Given the description of an element on the screen output the (x, y) to click on. 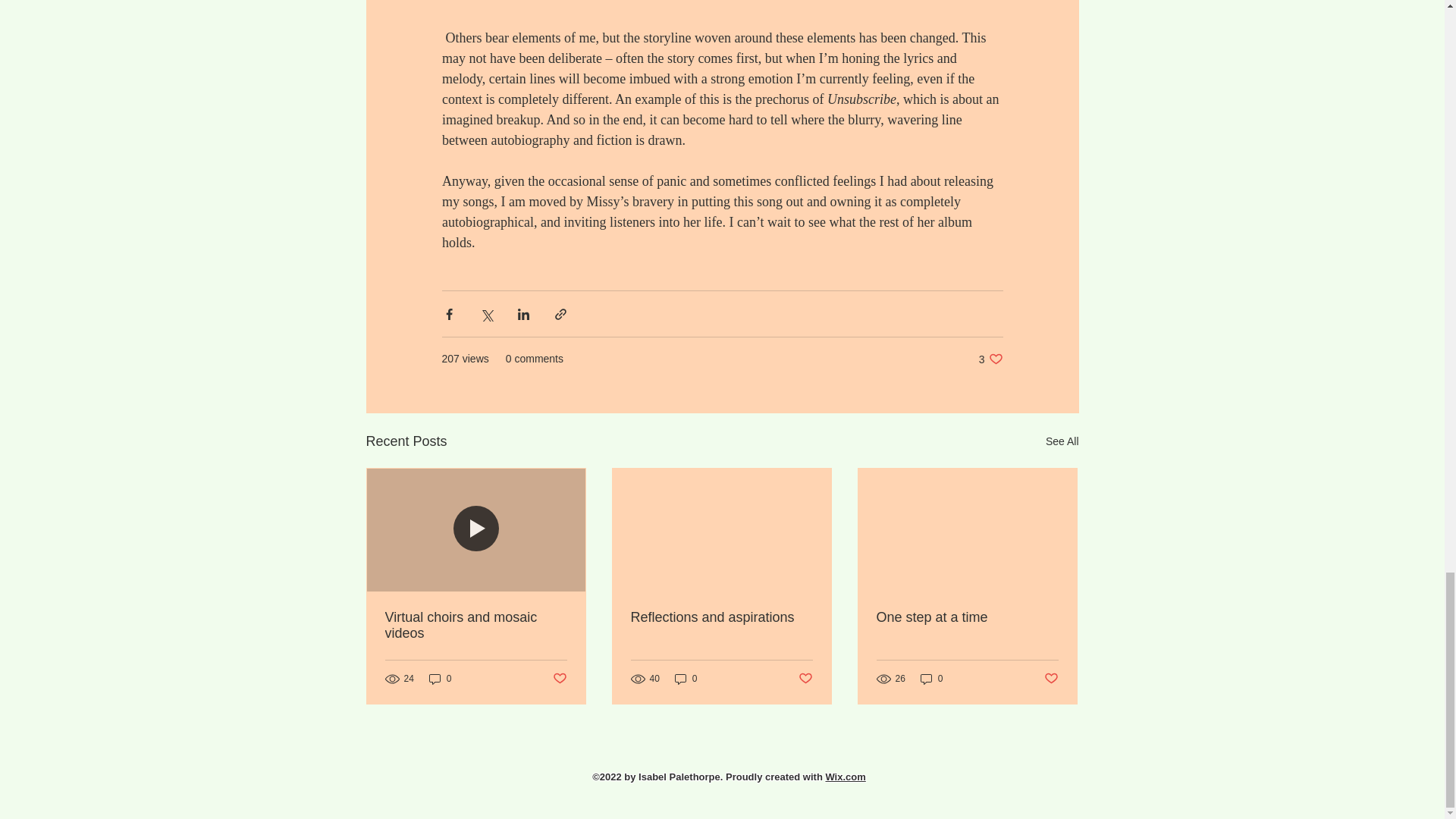
Post not marked as liked (558, 678)
0 (685, 678)
Post not marked as liked (1050, 678)
Virtual choirs and mosaic videos (476, 625)
0 (440, 678)
Reflections and aspirations (721, 617)
See All (1061, 441)
One step at a time (967, 617)
0 (931, 678)
Post not marked as liked (804, 678)
